Given the description of an element on the screen output the (x, y) to click on. 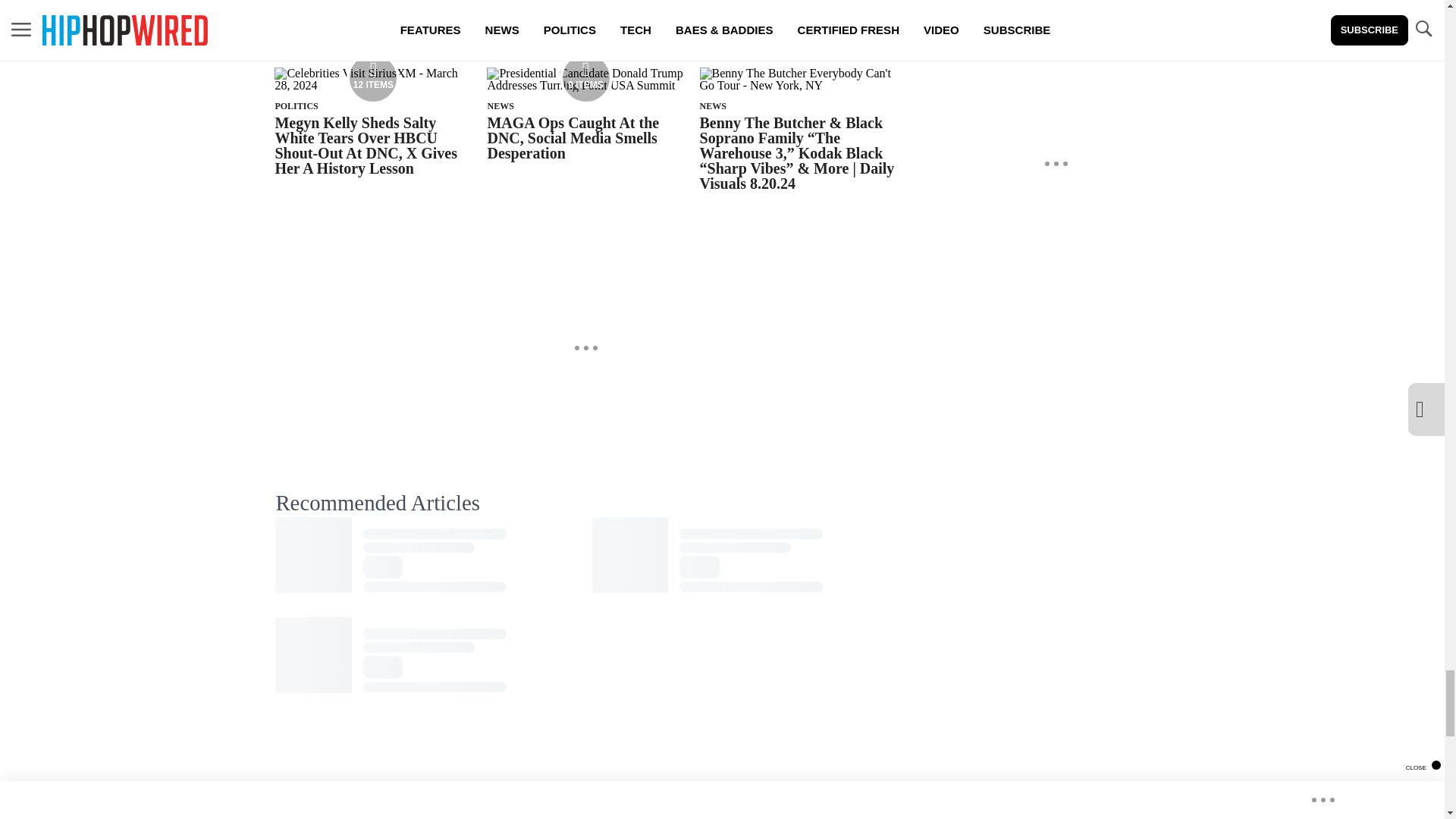
Vuukle Comments Widget (585, 766)
Media Playlist (372, 77)
POLITICS (296, 105)
NEWS (499, 105)
Media Playlist (585, 77)
12 ITEMS (373, 84)
Michelle Obama Speaks At The DNC, Dazzles Social Media (788, 23)
Democrats Transform Convention Roll Call, Lil Jon Popped Out (581, 23)
9 ITEMS (585, 84)
